Given the description of an element on the screen output the (x, y) to click on. 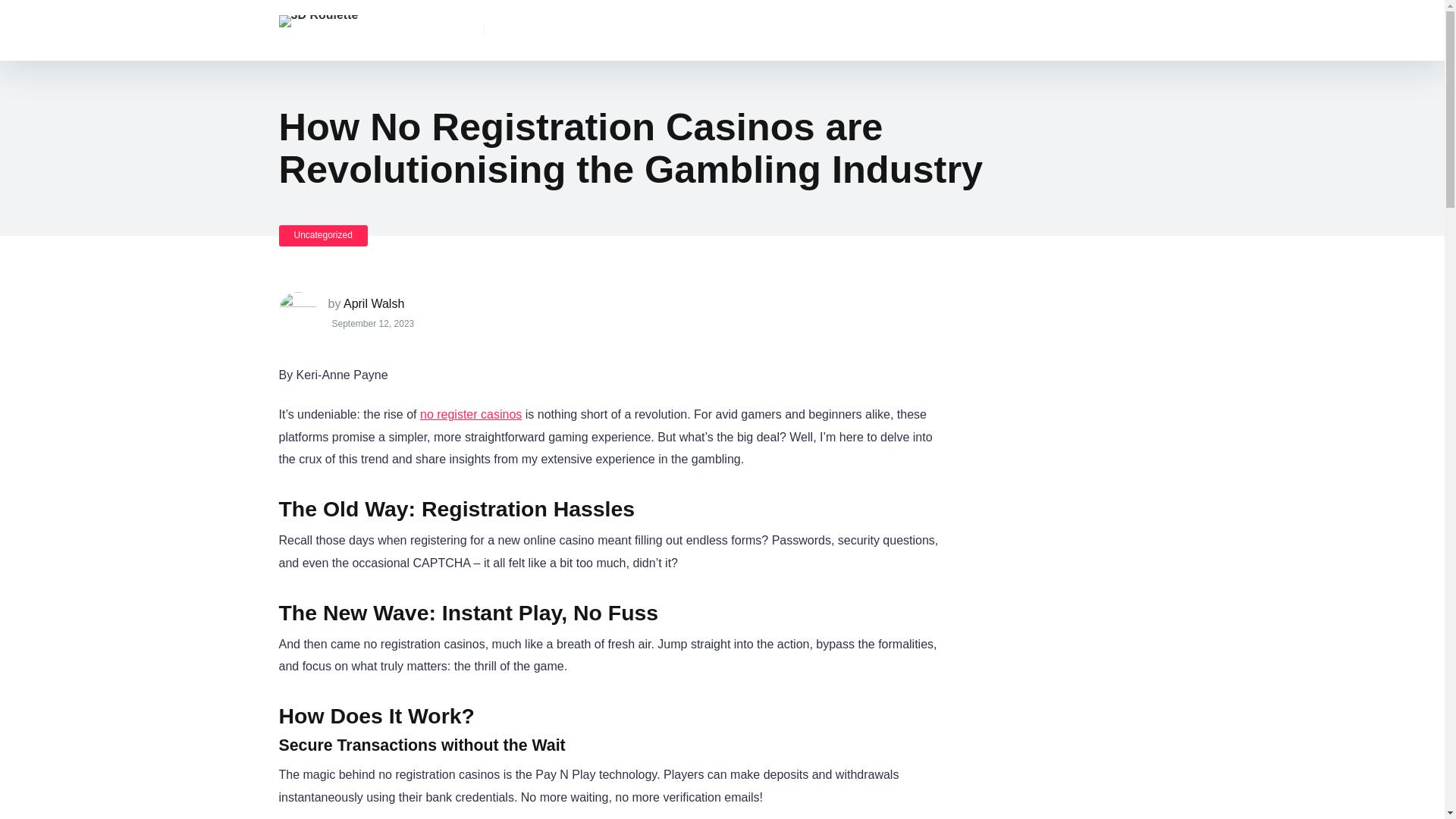
Posts by April Walsh (373, 303)
Uncategorized (323, 235)
3D Roulette (318, 15)
no register casinos (470, 413)
April Walsh (373, 303)
